Given the description of an element on the screen output the (x, y) to click on. 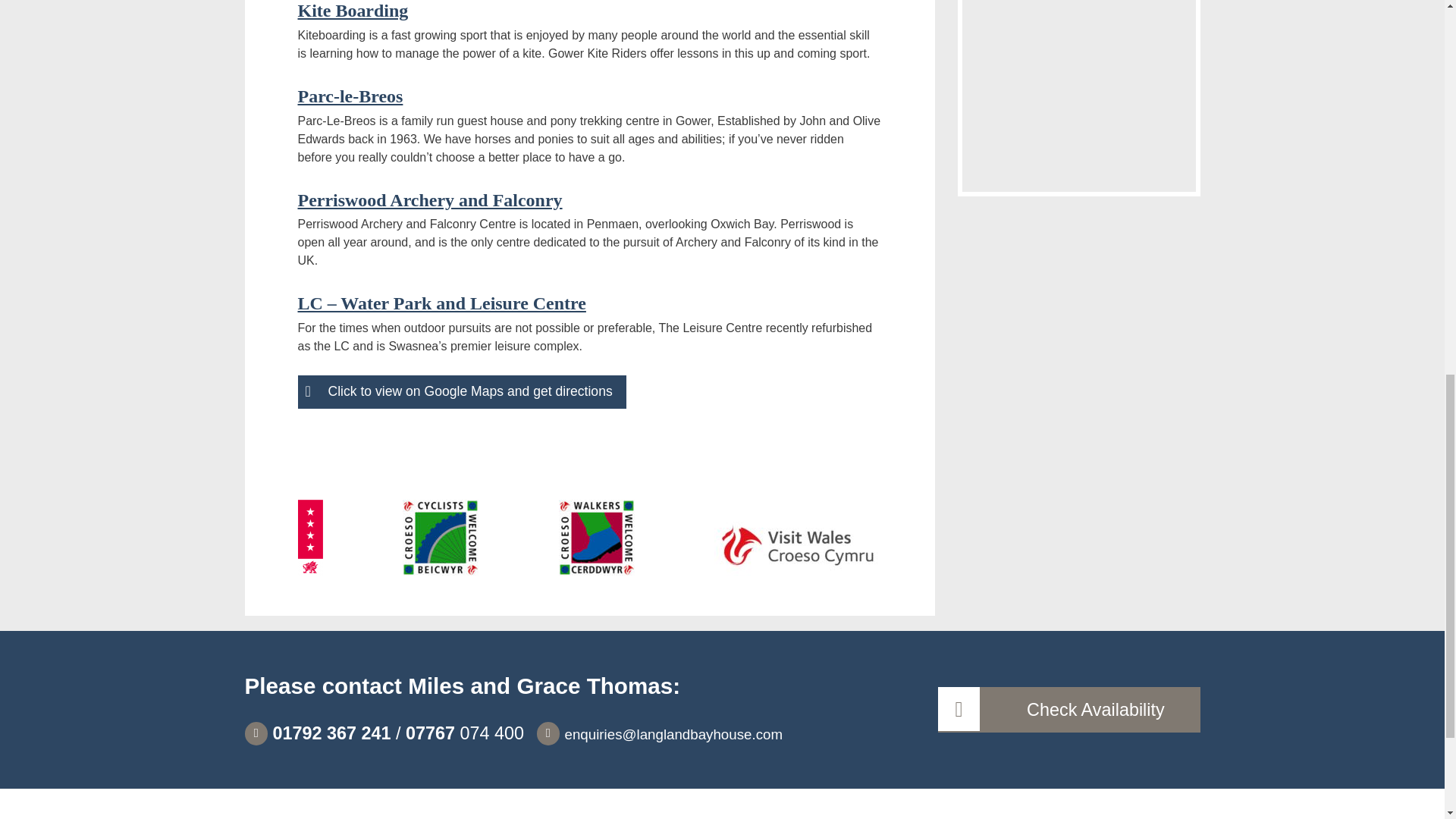
Click to view on Google Maps and get directions (461, 391)
01792 367 241 (317, 732)
Kite Boarding (352, 10)
07767 074 400 (465, 732)
The LC2 Swansea (441, 302)
Parc-le-breos (350, 96)
Parc-le-Breos (350, 96)
Perriswood Archery and Falconry (429, 199)
Gower Kiteboarding (352, 10)
Check Availability (1068, 709)
Perriswood Archery and Flaconry (429, 199)
